Given the description of an element on the screen output the (x, y) to click on. 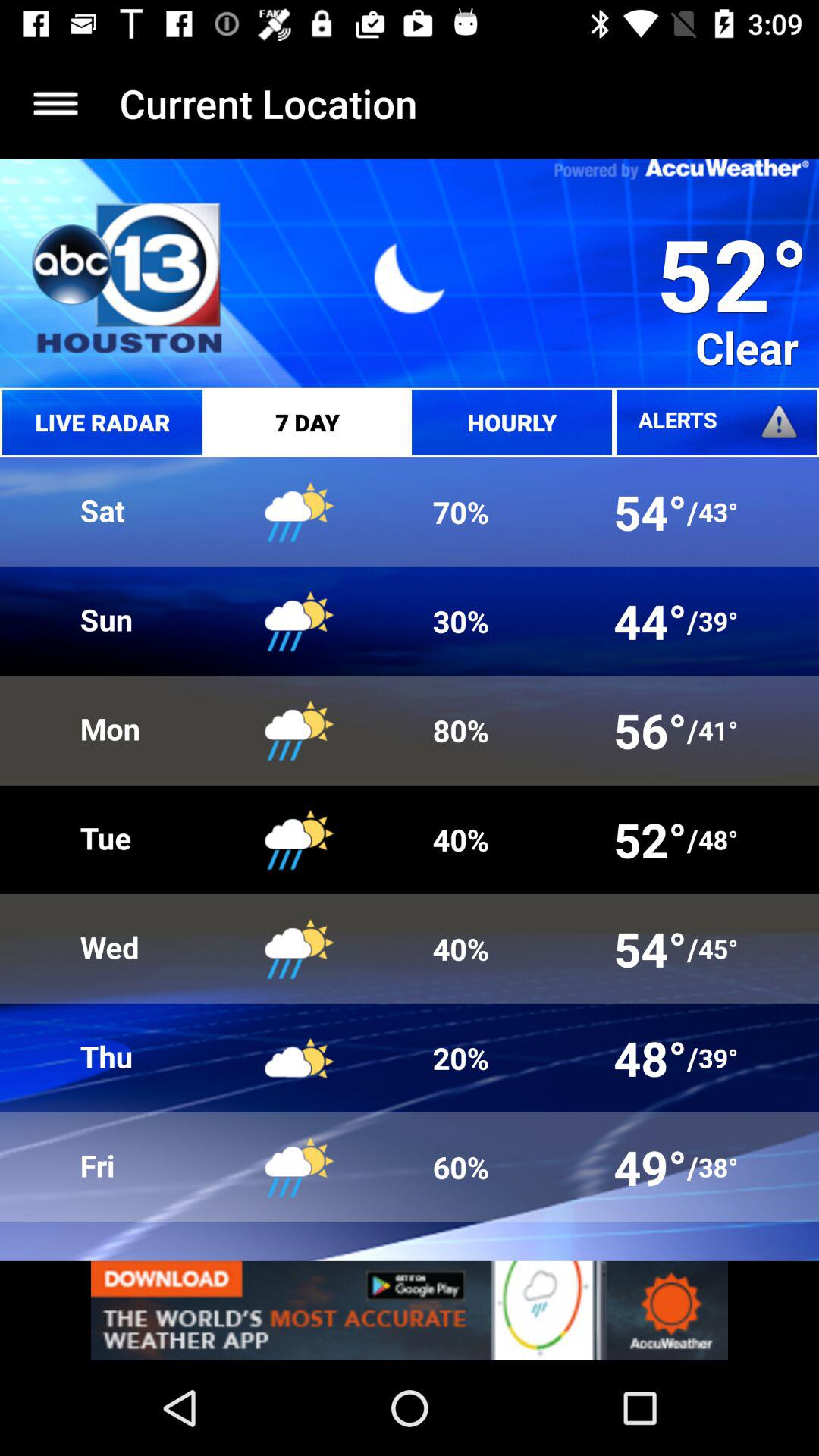
more menu options (55, 103)
